Given the description of an element on the screen output the (x, y) to click on. 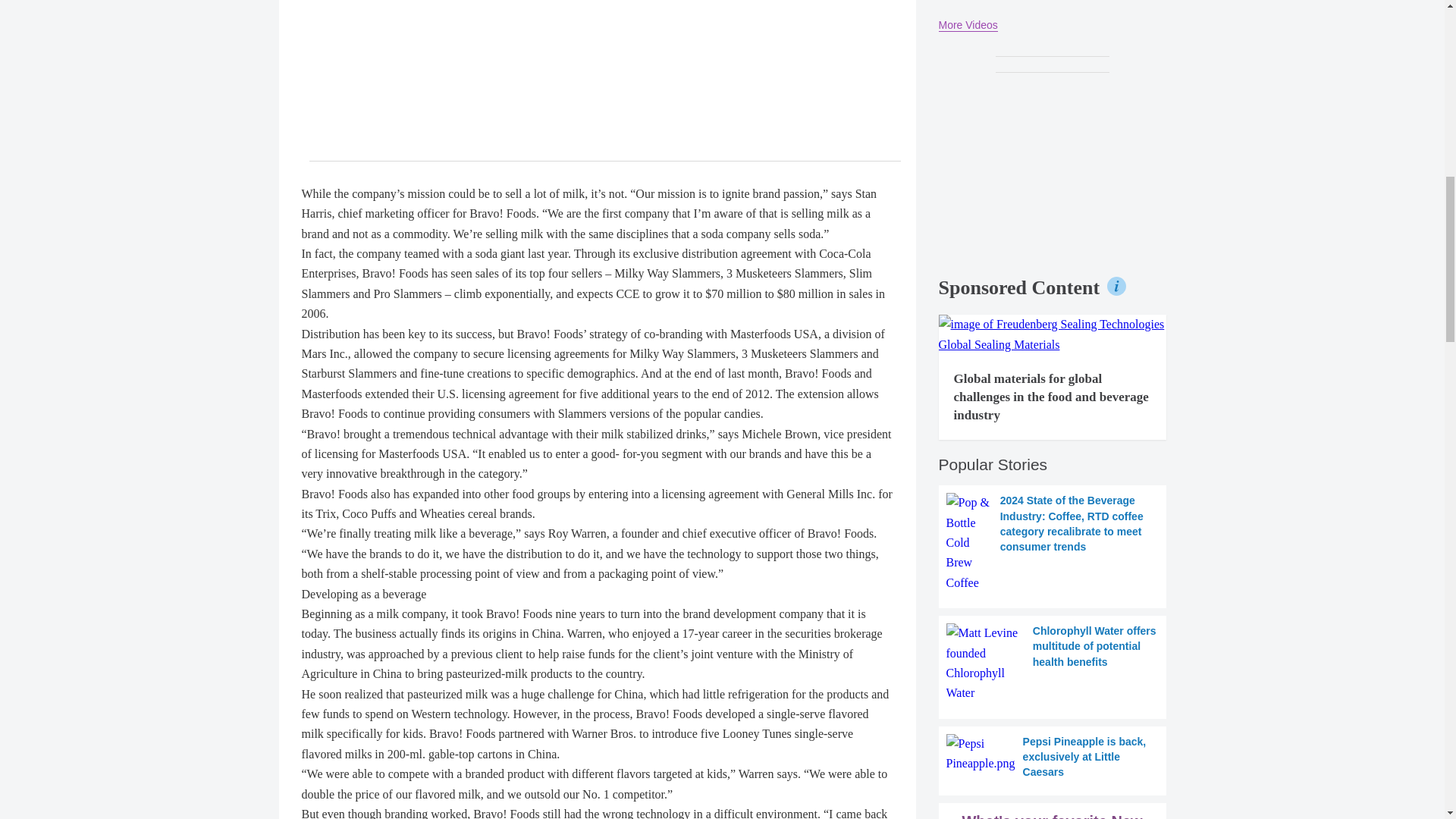
Pepsi Pineapple is back, exclusively at Little Caesars (1052, 756)
Freudenberg Sealing Technologies Global Sealing Materials (1052, 334)
